Given the description of an element on the screen output the (x, y) to click on. 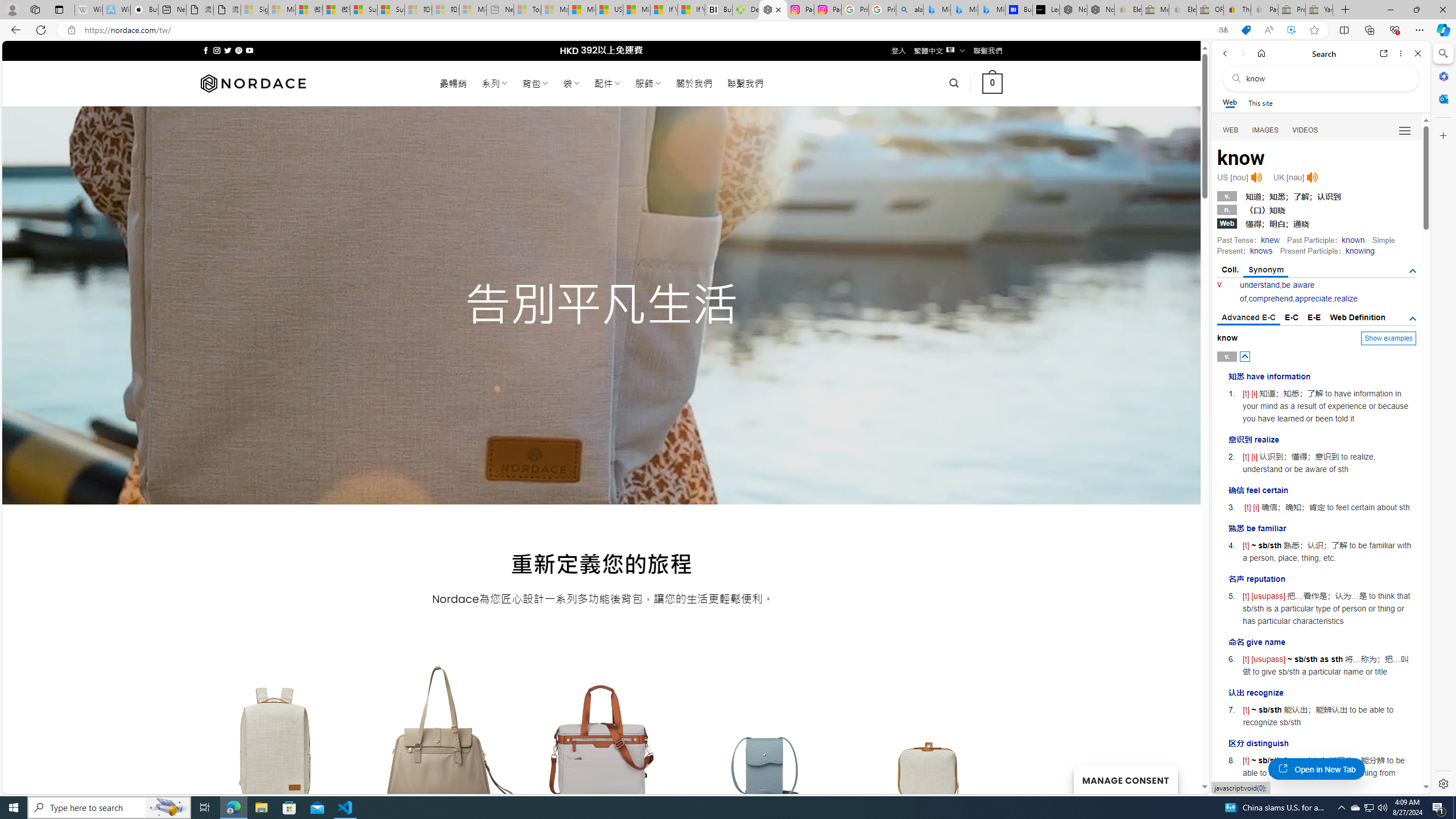
Yard, Garden & Outdoor Living - Sleeping (1319, 9)
MANAGE CONSENT (1125, 779)
AutomationID: tgsb (1412, 270)
Click to listen (1312, 177)
